Given the description of an element on the screen output the (x, y) to click on. 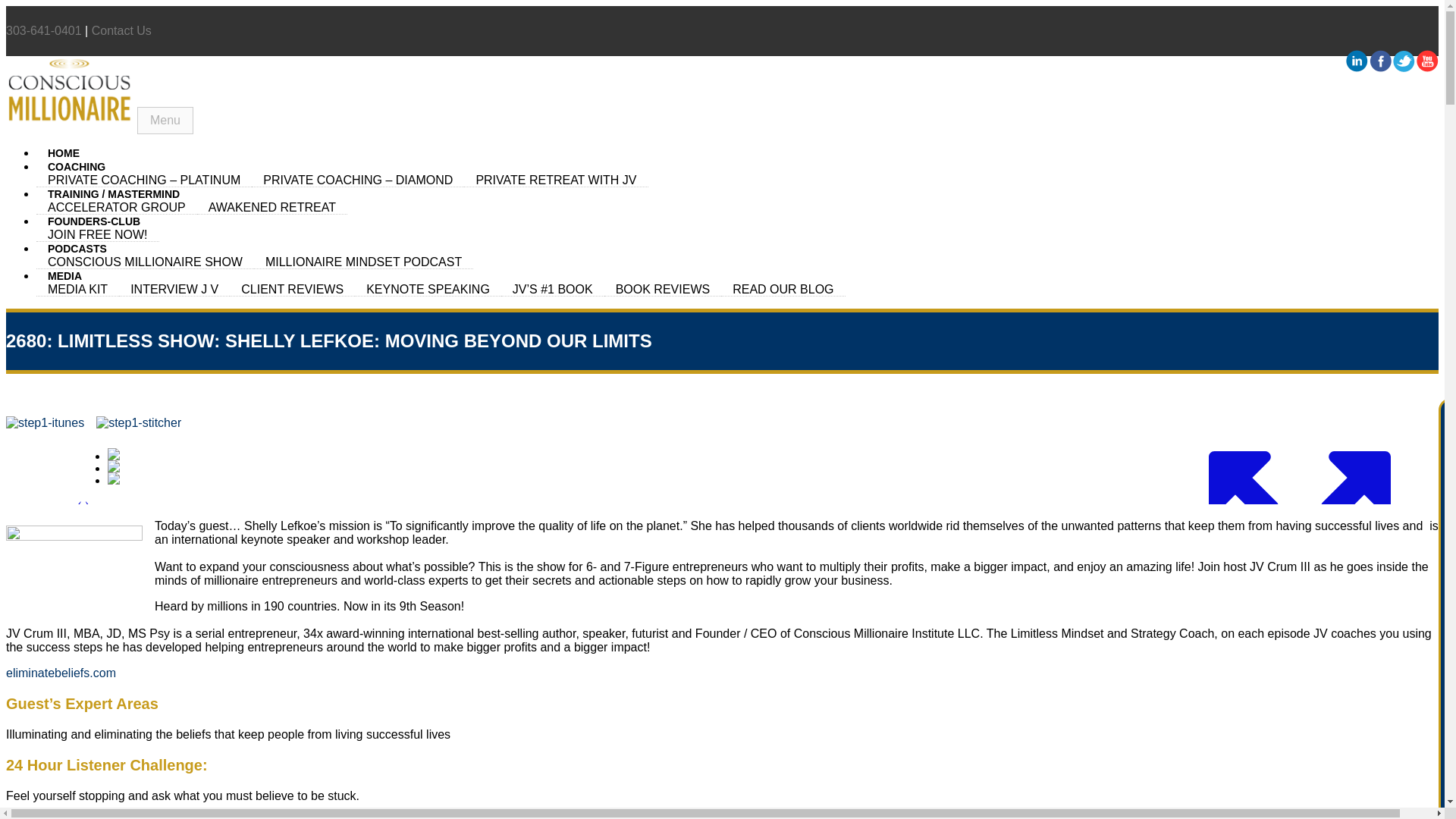
BOOK REVIEWS (662, 289)
MEDIA KIT (77, 289)
CLIENT REVIEWS (292, 289)
COACHING (76, 166)
Menu (164, 120)
READ OUR BLOG (782, 289)
FOUNDERS-CLUB (93, 221)
ACCELERATOR GROUP (116, 207)
303-641-0401 (43, 30)
Libsyn Player (721, 469)
